Given the description of an element on the screen output the (x, y) to click on. 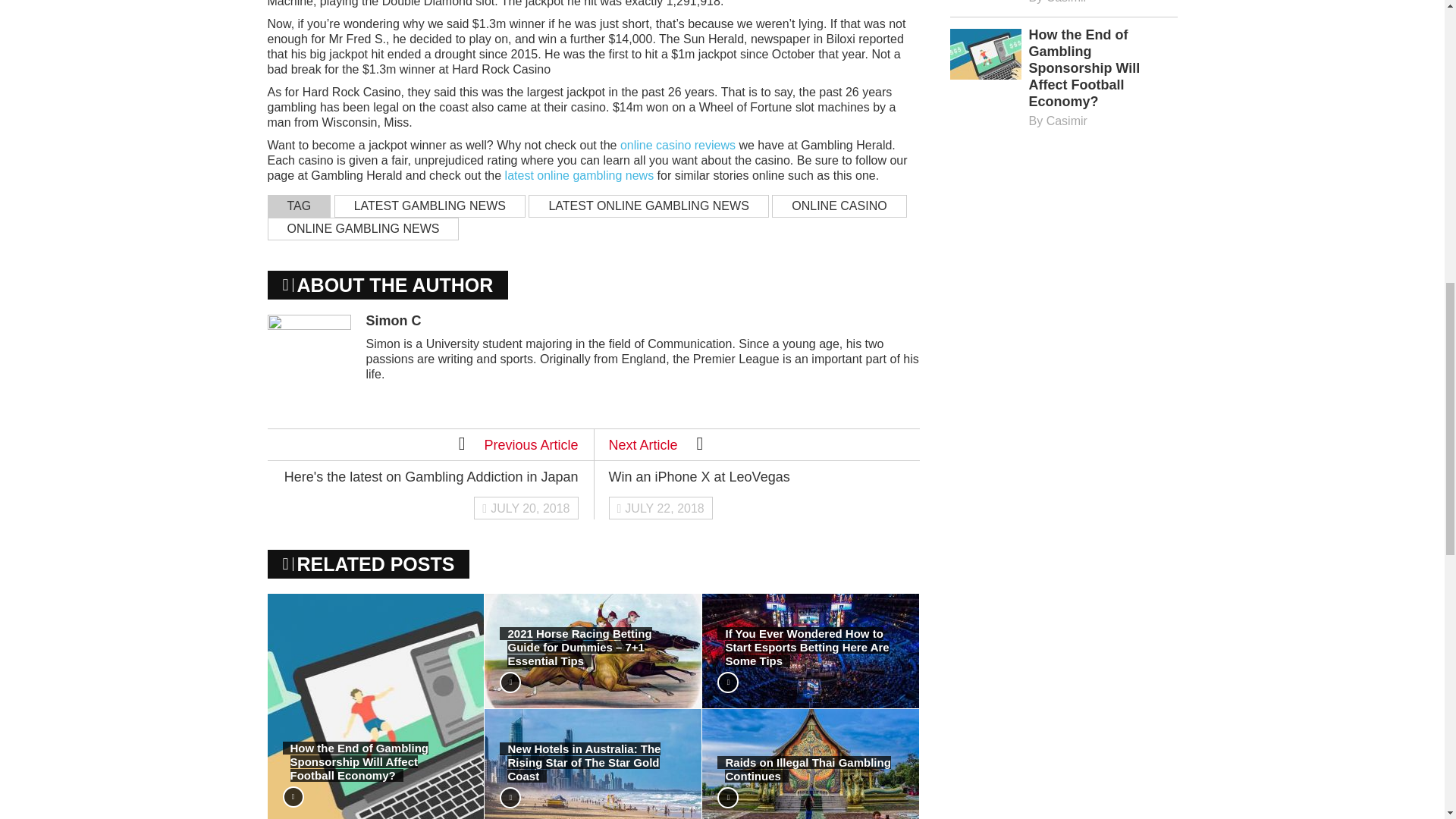
Posts by Simon C (392, 320)
Posts by Casimir (1066, 2)
Posts by Casimir (1066, 120)
